Given the description of an element on the screen output the (x, y) to click on. 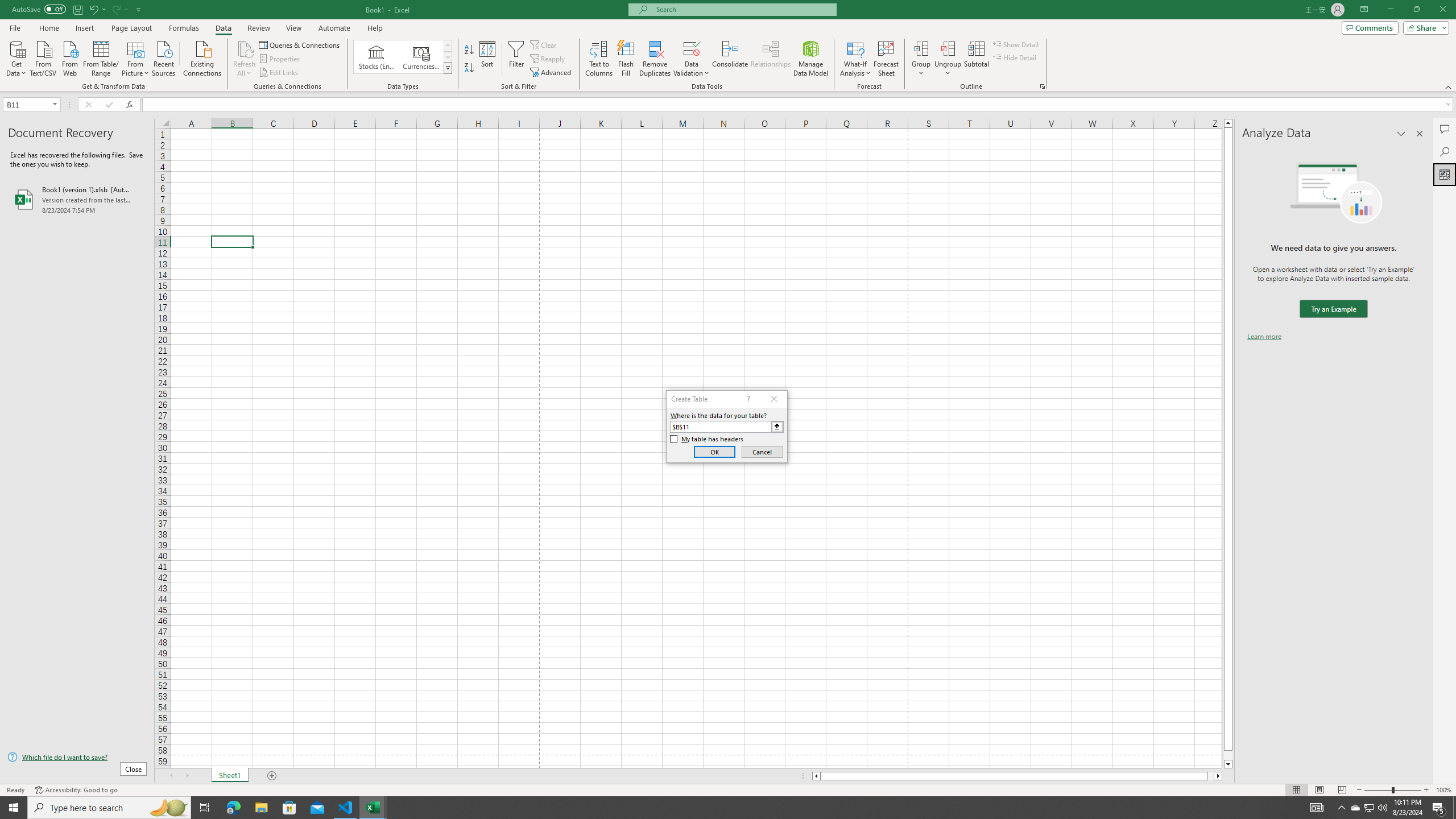
AutomationID: ConvertToLinkedEntity (403, 56)
Analyze Data (1444, 173)
Forecast Sheet (885, 58)
Filter (515, 58)
What-If Analysis (855, 58)
Edit Links (279, 72)
Accessibility Checker Accessibility: Good to go (76, 790)
Which file do I want to save? (77, 757)
